Given the description of an element on the screen output the (x, y) to click on. 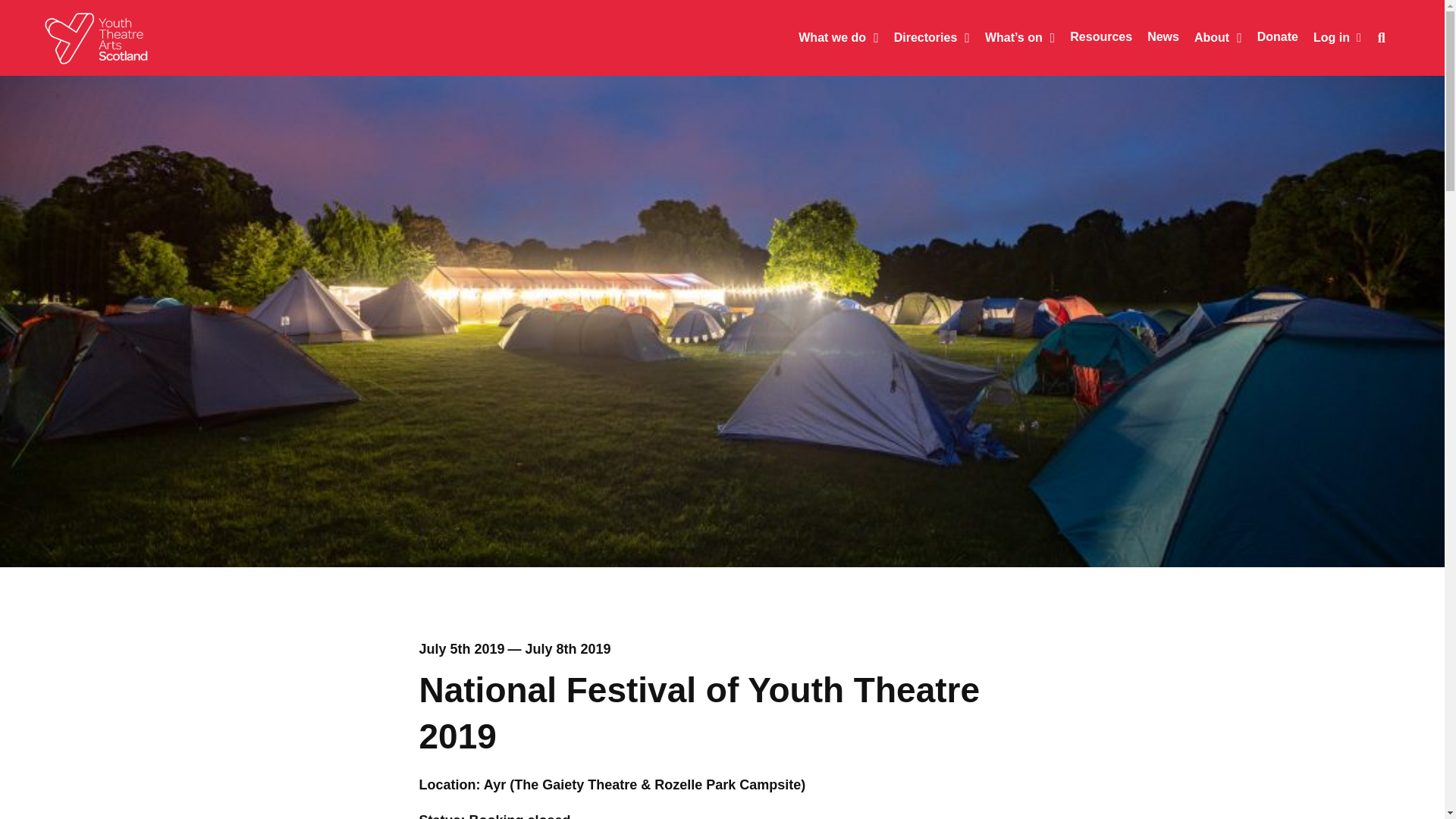
News (1155, 37)
What we do (830, 38)
Log in (1337, 37)
Resources (1093, 37)
Donate (1269, 37)
About (1210, 38)
Directories (924, 38)
